Given the description of an element on the screen output the (x, y) to click on. 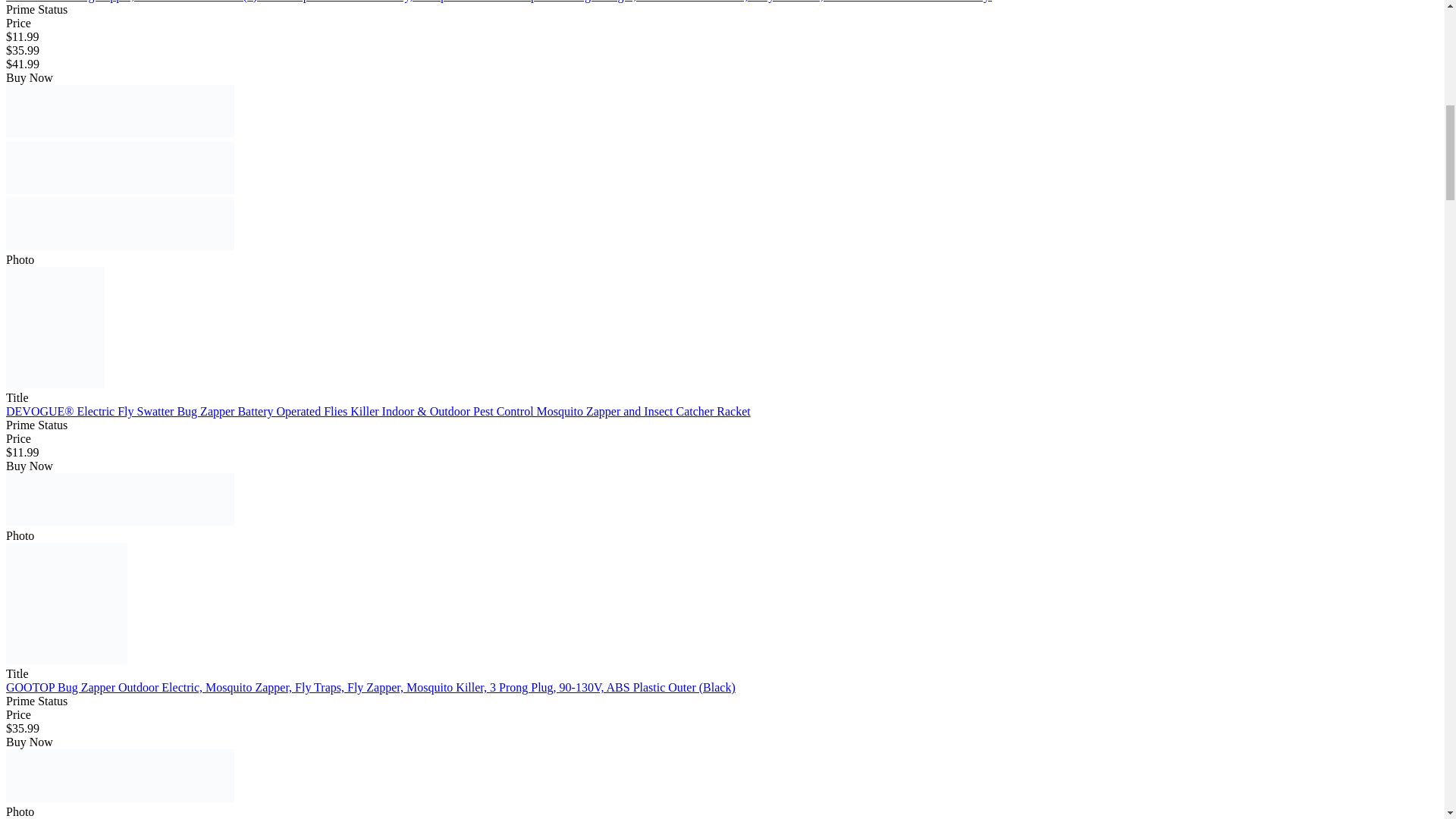
Buy On Amazon (119, 223)
Buy On Amazon (119, 167)
Buy On Amazon (119, 775)
Buy On Amazon (119, 111)
Buy On Amazon (119, 499)
